Given the description of an element on the screen output the (x, y) to click on. 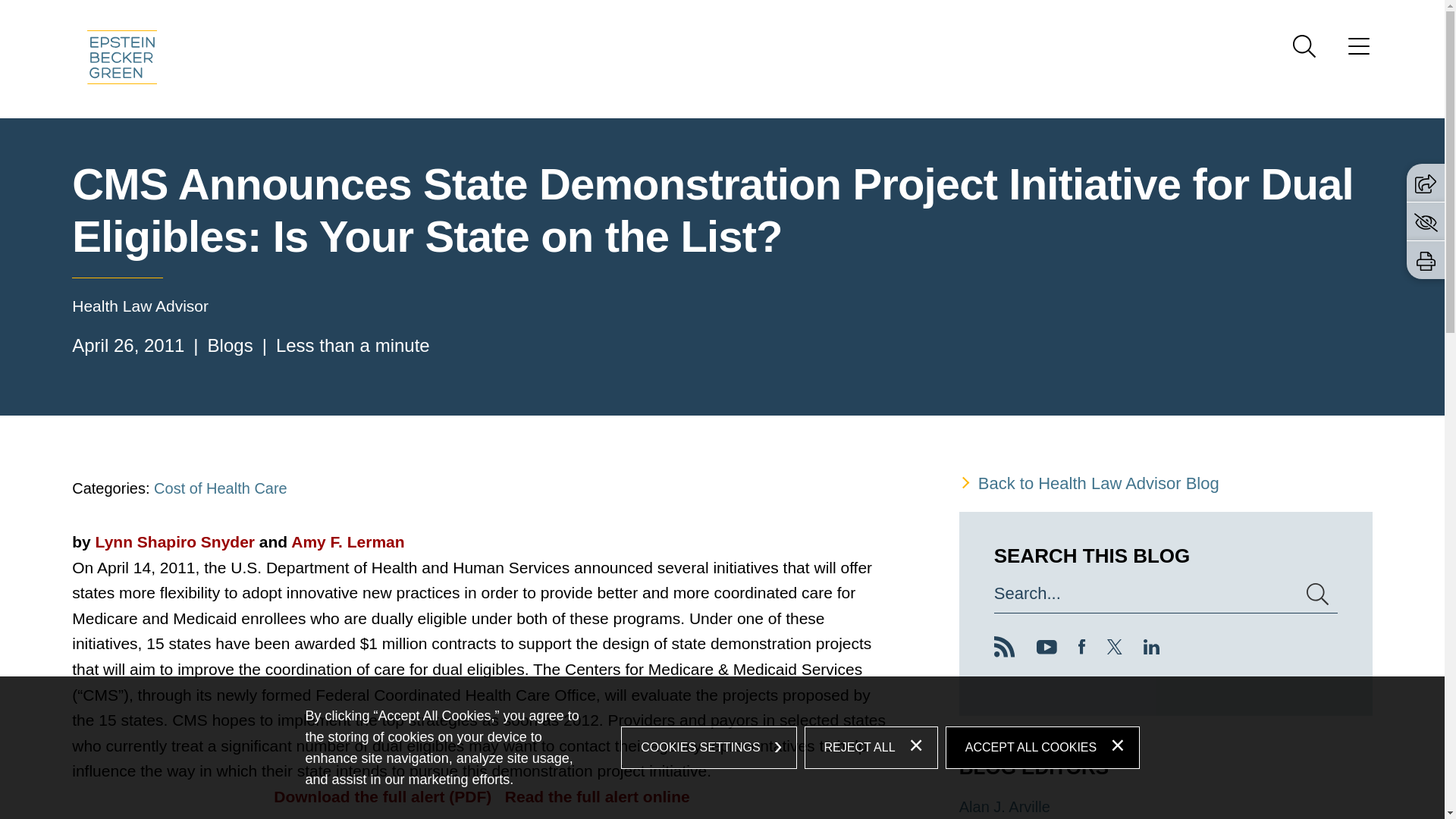
Facebook (1082, 648)
RSS (1004, 651)
Menu (1359, 51)
Linkedin (1150, 648)
Linkedin (1150, 646)
Lynn Shapiro Snyder (175, 541)
Search (1304, 46)
Youtube (1046, 648)
Share (1425, 182)
Print (1425, 261)
Linkedin (1150, 648)
Back to Health Law Advisor Blog (1166, 483)
Cost of Health Care (220, 487)
Facebook (1082, 648)
Go to the privacy settings (1425, 221)
